Given the description of an element on the screen output the (x, y) to click on. 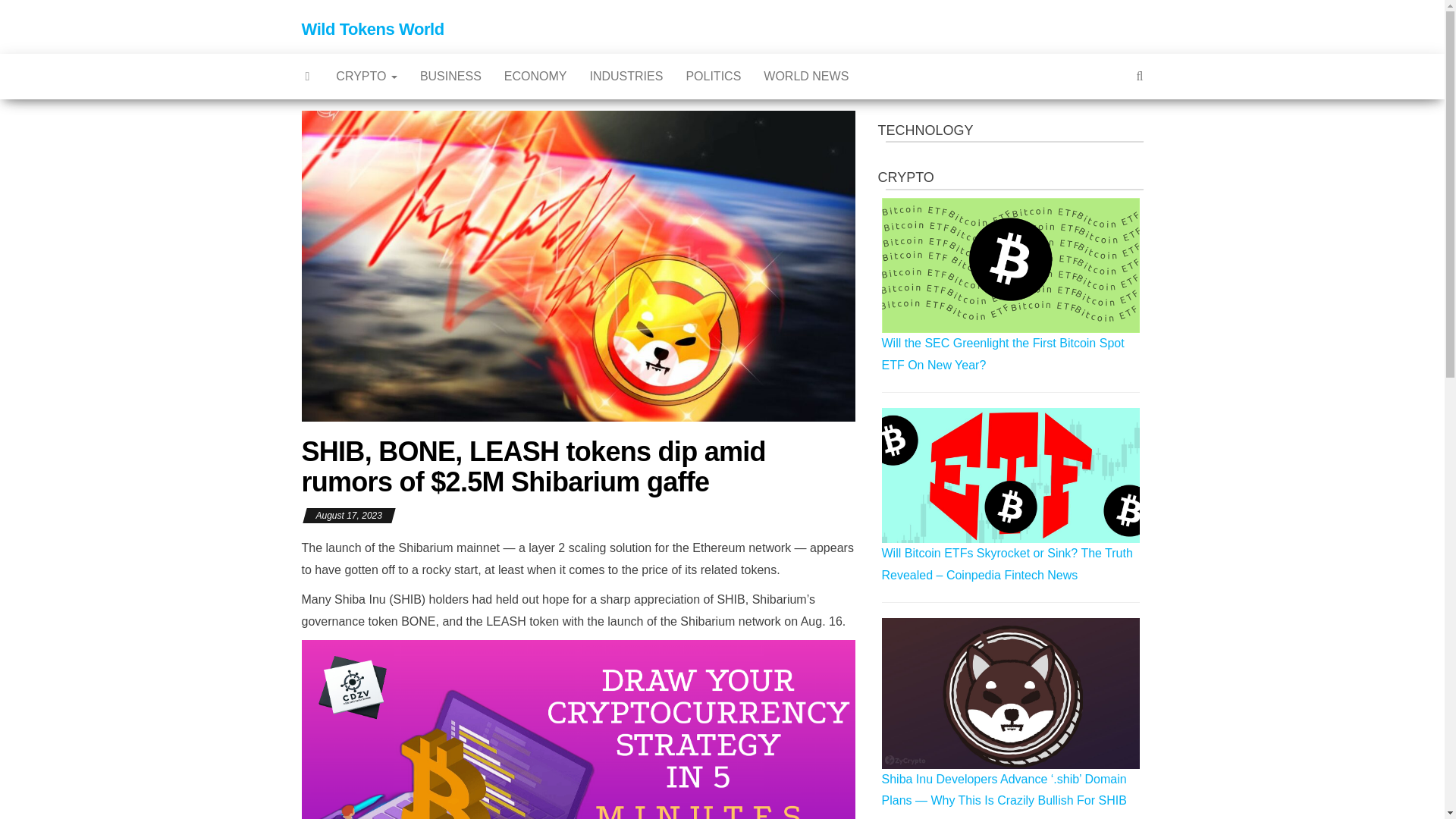
Politics (713, 76)
Business (451, 76)
CRYPTO (366, 76)
INDUSTRIES (626, 76)
WORLD NEWS (806, 76)
ECONOMY (535, 76)
Economy (535, 76)
BUSINESS (451, 76)
World News (806, 76)
Wild Tokens World (372, 28)
Crypto (366, 76)
POLITICS (713, 76)
